Given the description of an element on the screen output the (x, y) to click on. 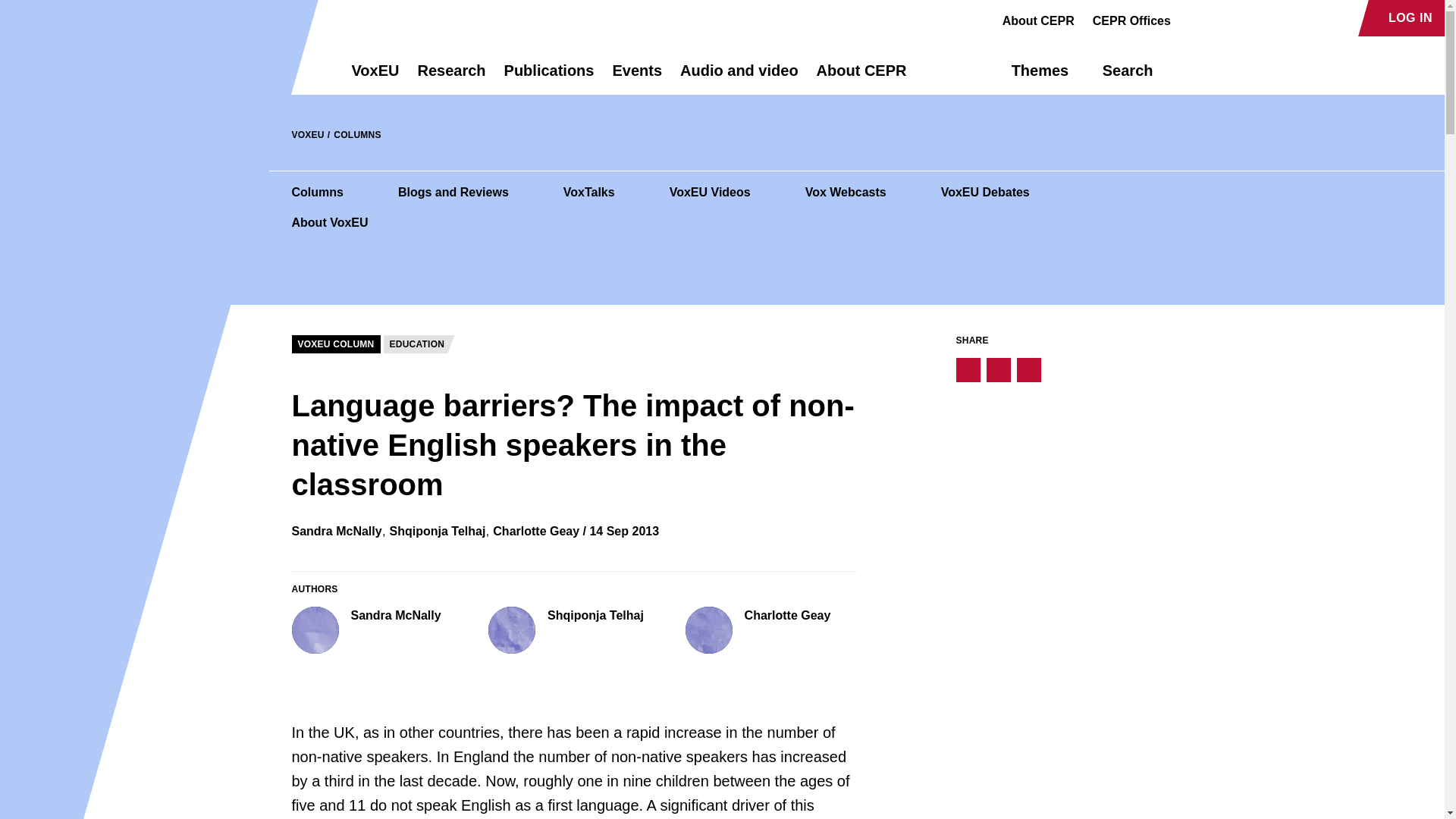
Audio and video (738, 77)
VoxEU (375, 77)
Research (450, 77)
Go to Linkedin profile (1243, 18)
Publications (548, 77)
Go to Facebook profile (1190, 17)
Go to Audioboom profile (1217, 17)
Return to the homepage (293, 69)
Events (636, 77)
